Given the description of an element on the screen output the (x, y) to click on. 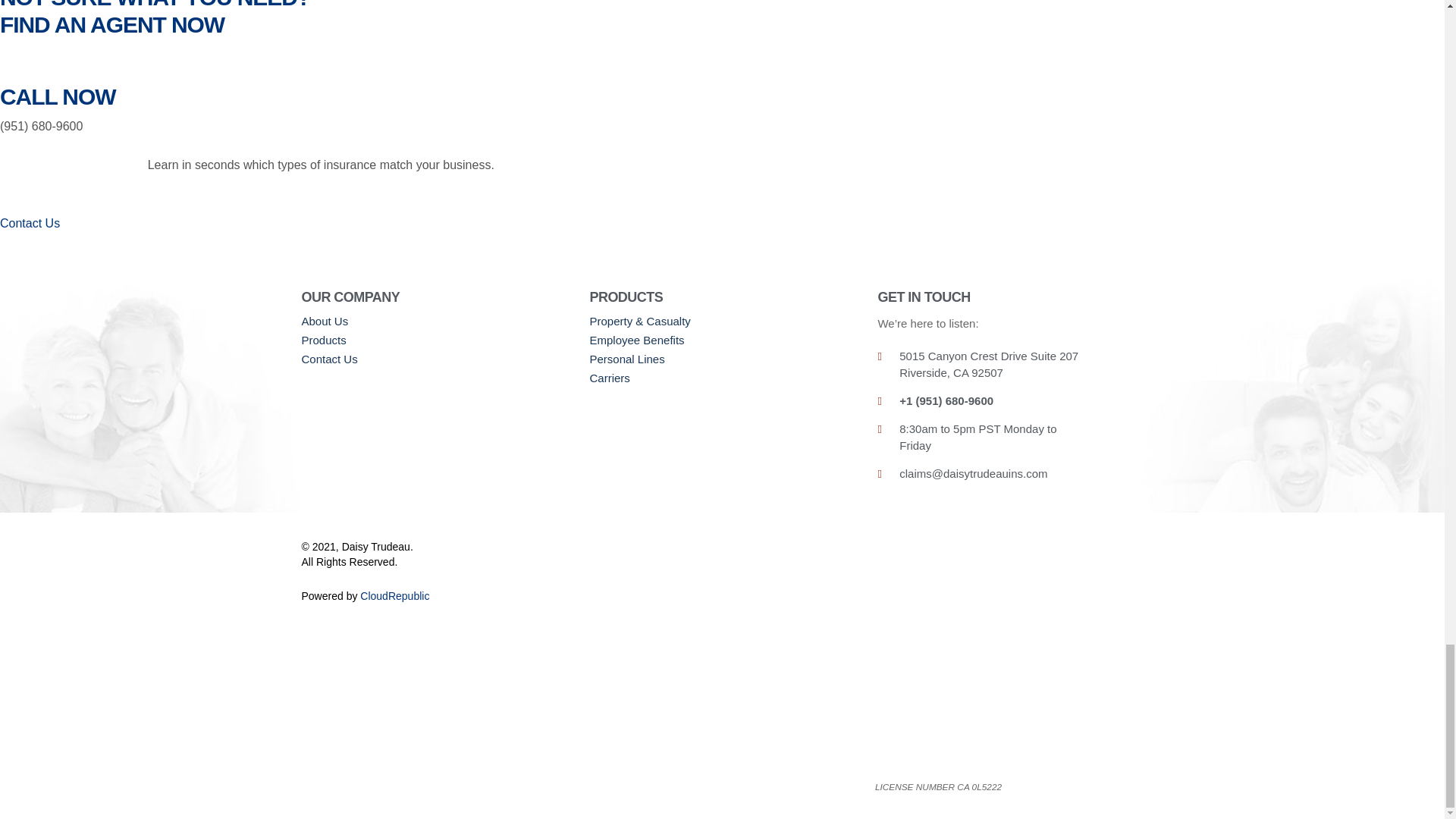
Carriers (721, 377)
Products (434, 339)
CloudRepublic (394, 595)
Contact Us (434, 358)
Employee Benefits (721, 339)
Contact Us (29, 233)
Personal Lines (721, 358)
About Us (434, 321)
